Given the description of an element on the screen output the (x, y) to click on. 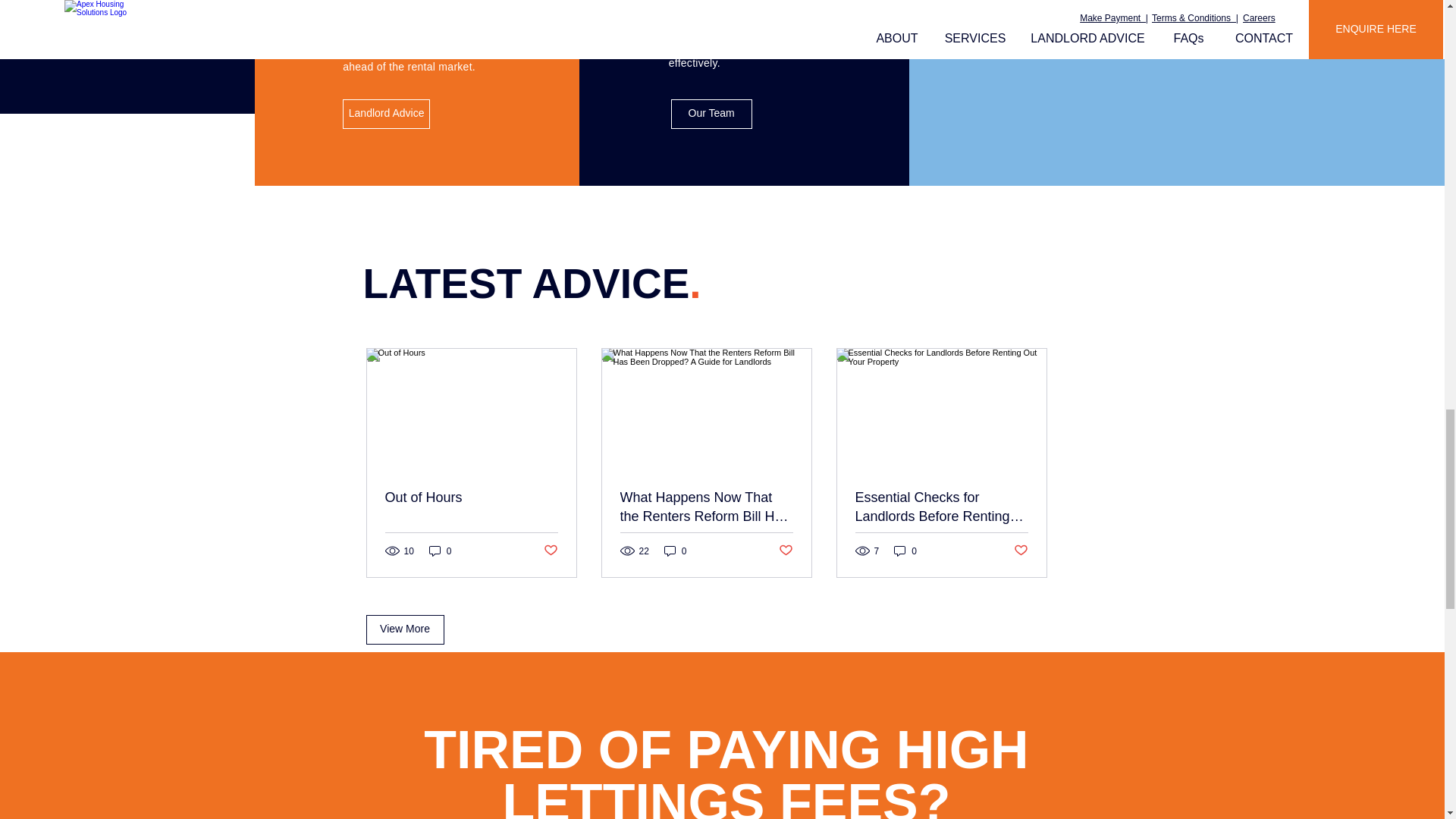
Post not marked as liked (550, 550)
Out of Hours (471, 497)
0 (905, 550)
View More (404, 629)
Post not marked as liked (1020, 550)
Landlord Advice (385, 113)
Our Team (711, 113)
0 (675, 550)
0 (440, 550)
Post not marked as liked (784, 550)
